Given the description of an element on the screen output the (x, y) to click on. 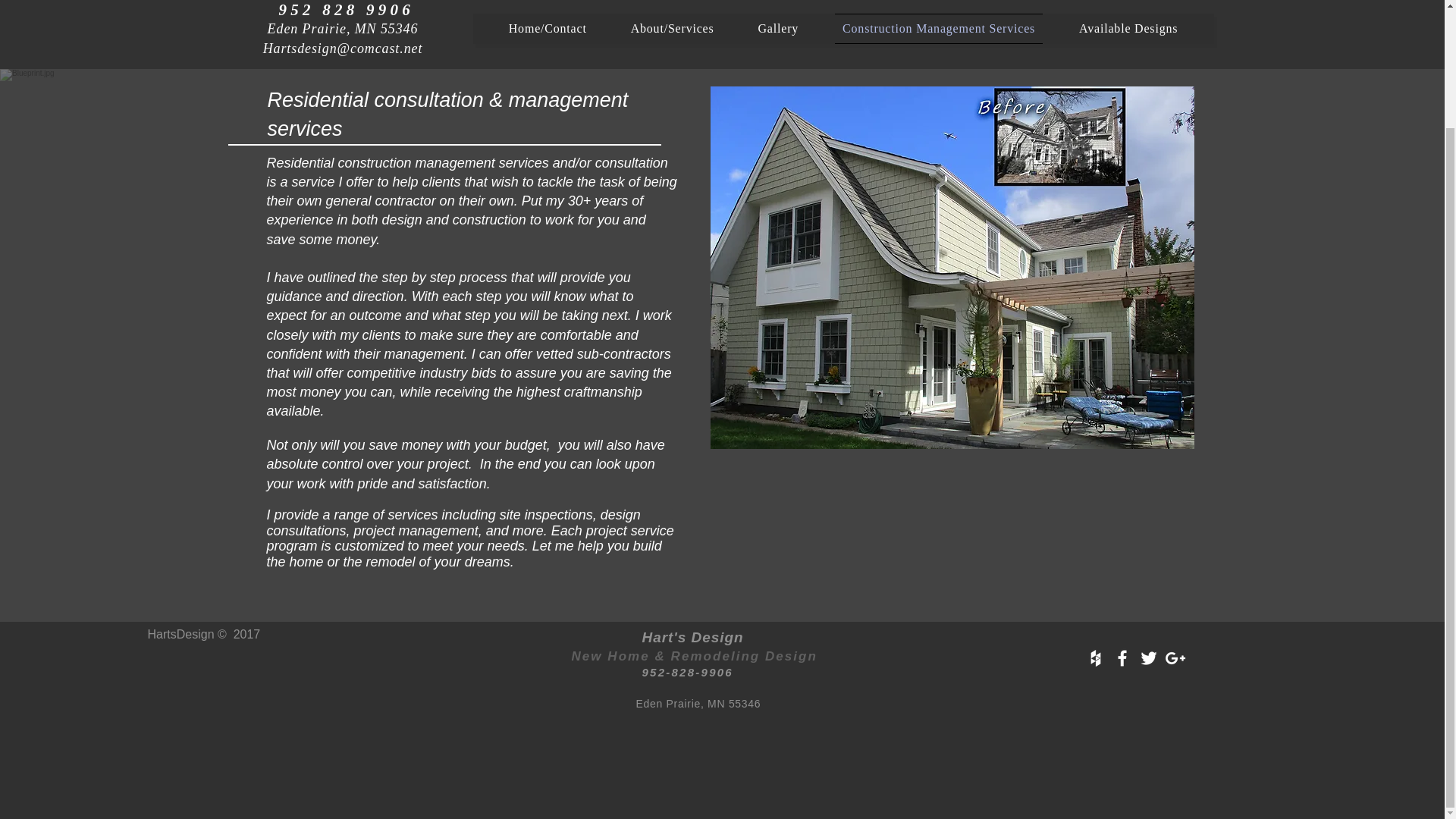
Available Designs (1128, 28)
Construction Management Services (938, 28)
Gallery (778, 28)
